Given the description of an element on the screen output the (x, y) to click on. 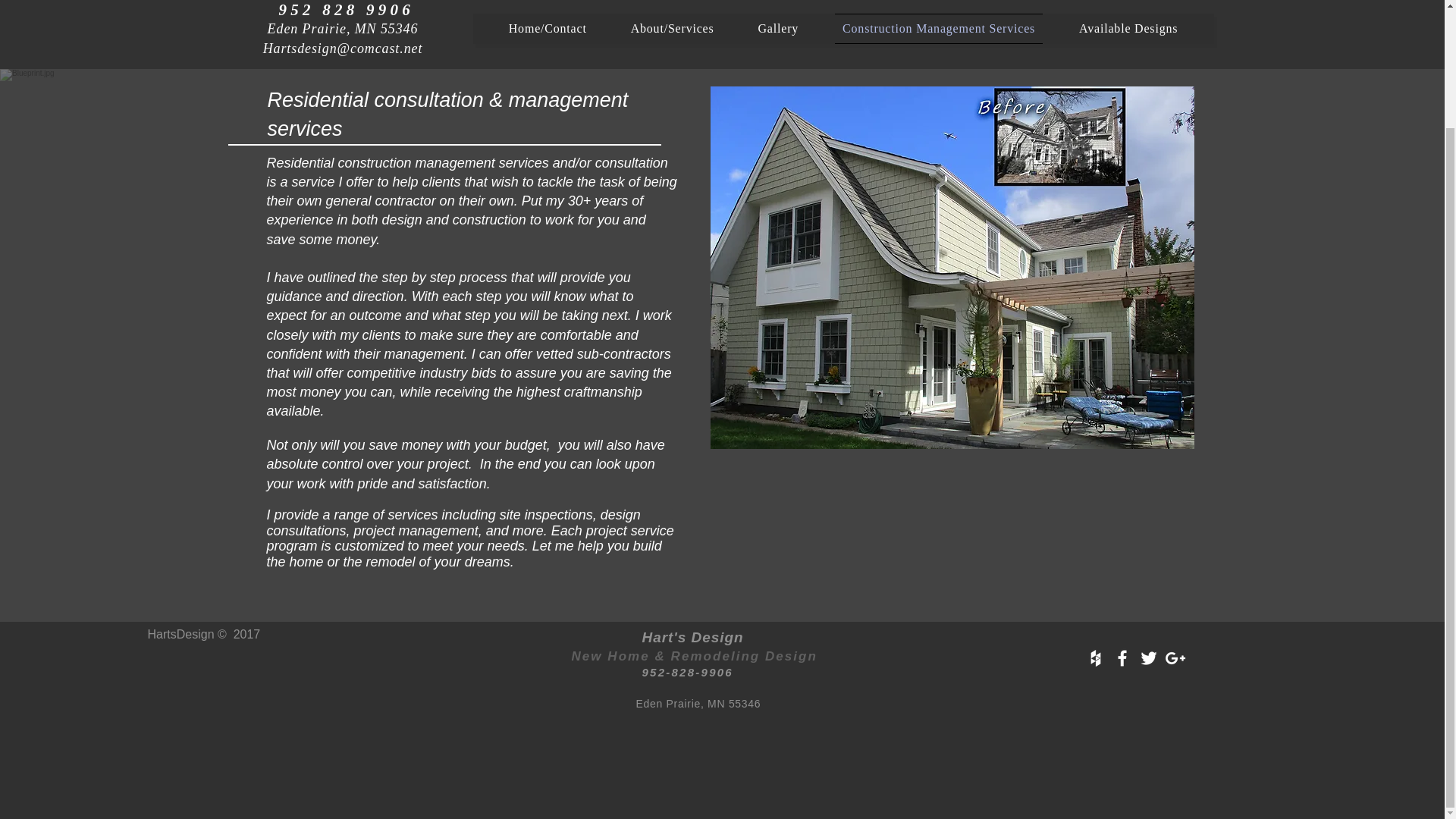
Available Designs (1128, 28)
Construction Management Services (938, 28)
Gallery (778, 28)
